Given the description of an element on the screen output the (x, y) to click on. 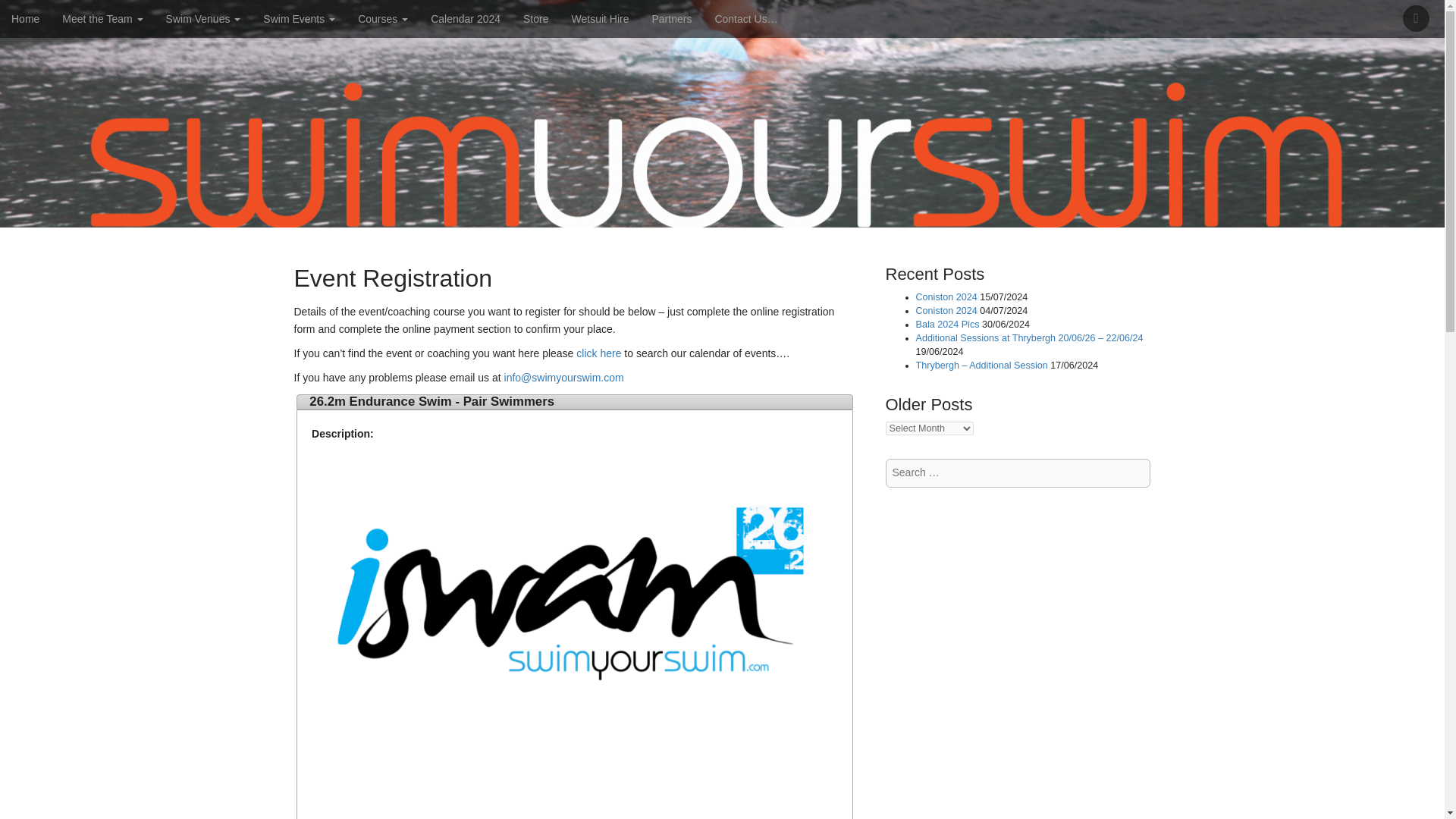
Swim Events (298, 18)
Calendar 2024 (465, 18)
Swim Venues (202, 18)
Courses (382, 18)
Home (25, 18)
Email us to book your place (563, 377)
Store (535, 18)
Meet the Team (102, 18)
